Given the description of an element on the screen output the (x, y) to click on. 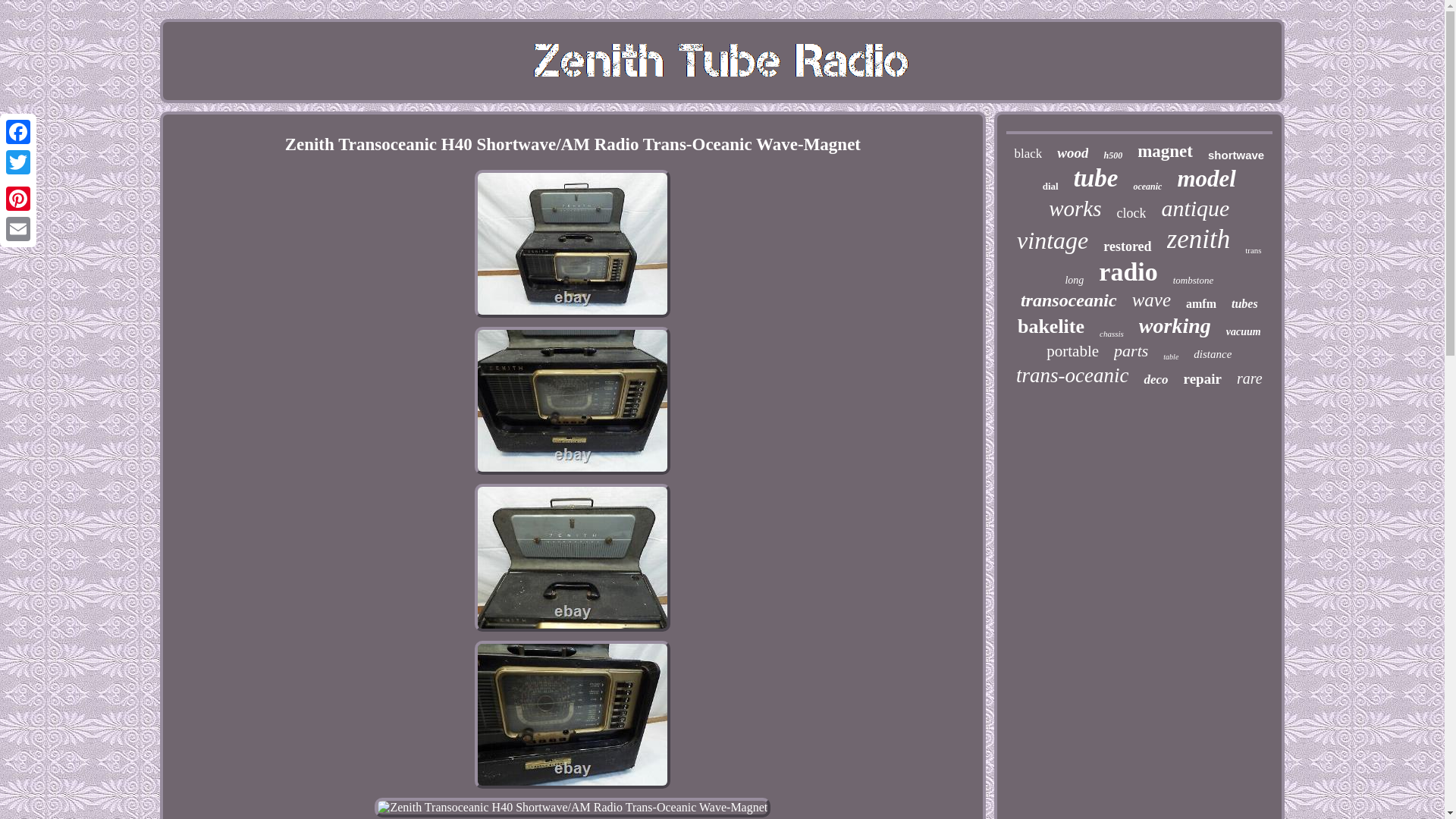
Email (17, 228)
works (1074, 208)
wood (1072, 152)
transoceanic (1068, 300)
clock (1130, 213)
vacuum (1242, 331)
wave (1151, 300)
long (1073, 280)
antique (1194, 208)
black (1027, 153)
